Given the description of an element on the screen output the (x, y) to click on. 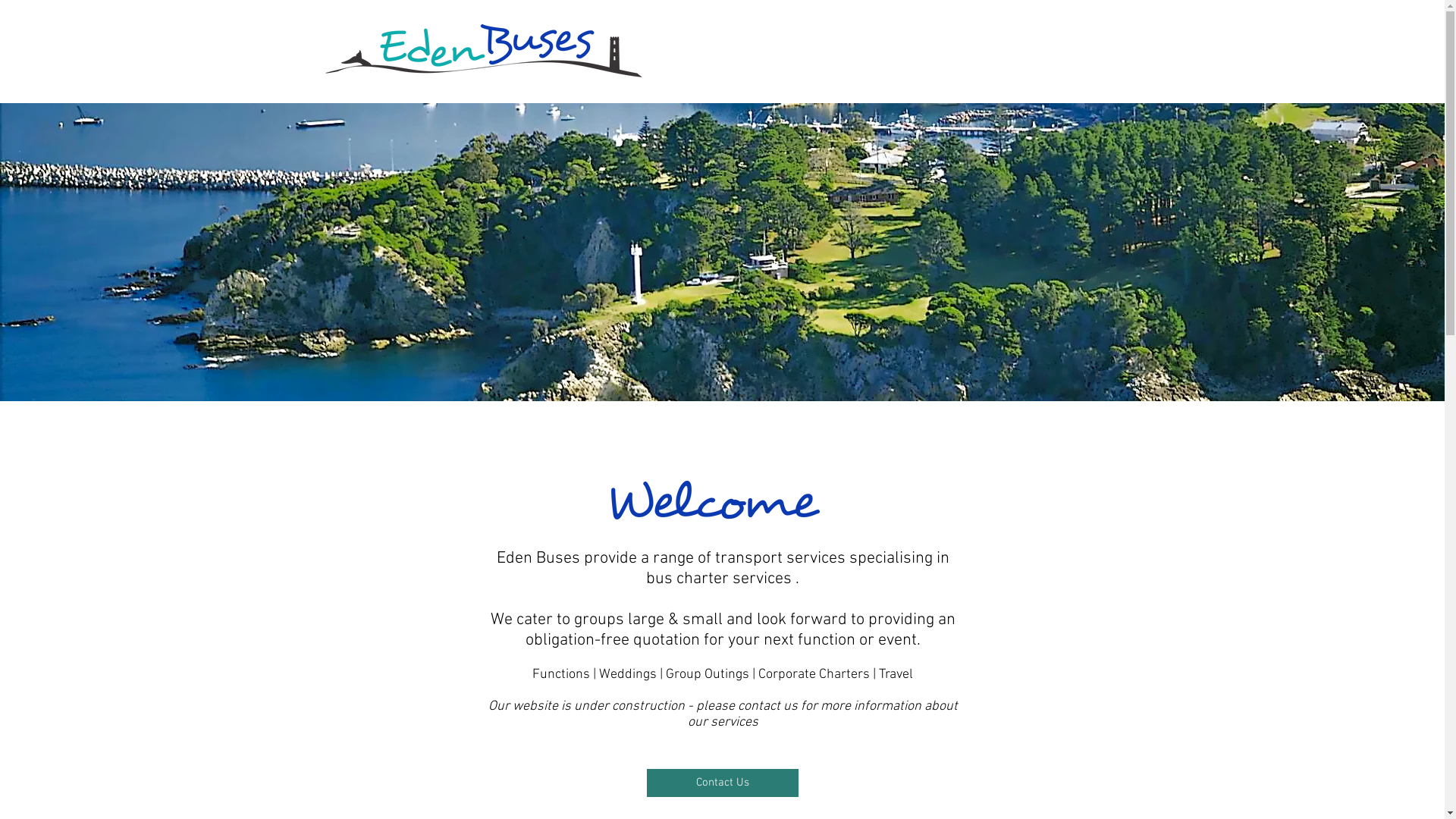
Eden Buses Bus Charter Services Element type: hover (482, 50)
Contact Us Element type: text (721, 782)
Welcome to Eden Buses Element type: hover (712, 499)
